Given the description of an element on the screen output the (x, y) to click on. 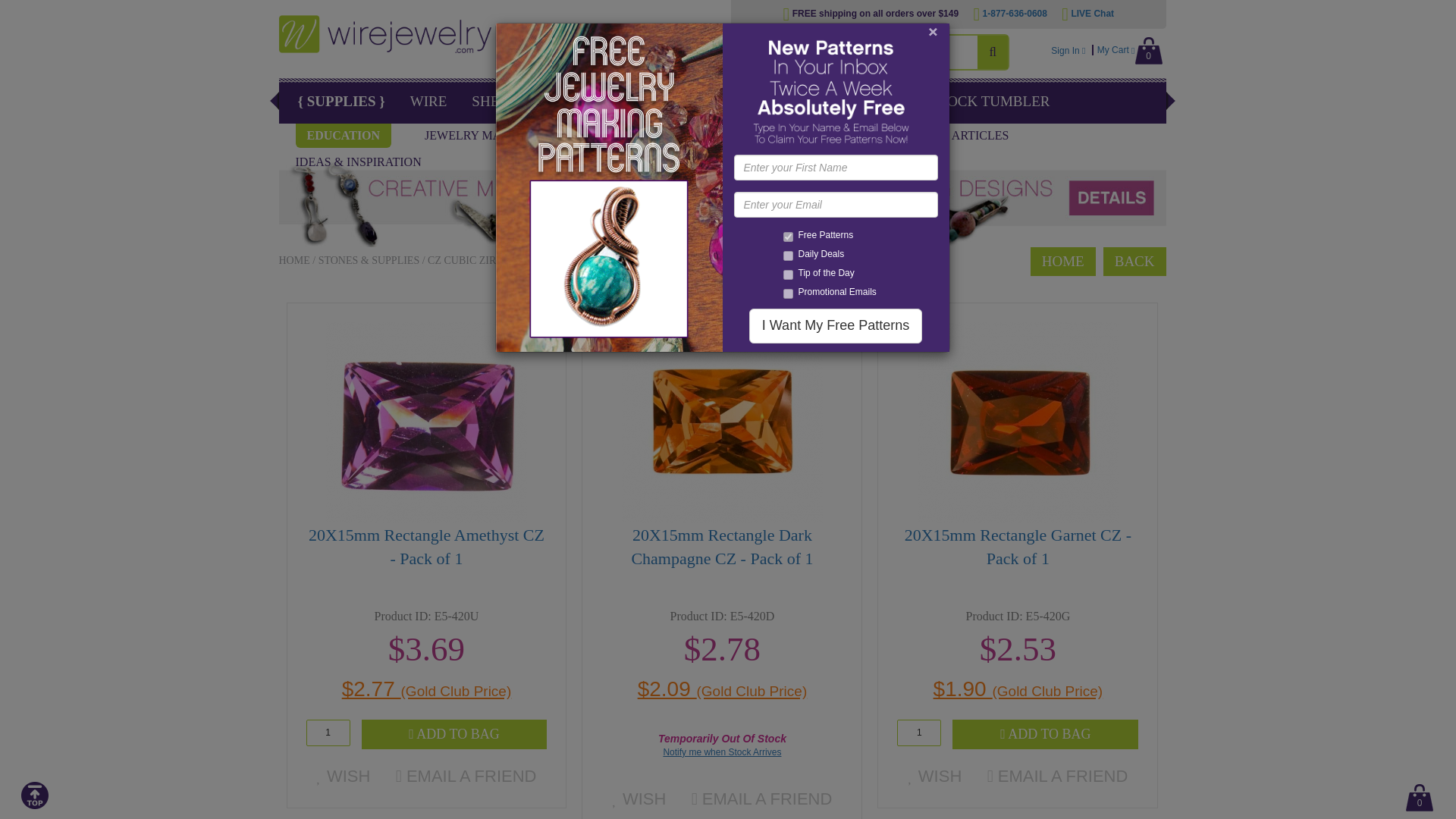
3155 (787, 275)
20X15mm Rectangle Garnet CZ  - Pack of 1 (1017, 421)
3157 (787, 293)
1 (327, 732)
3161 (787, 236)
3153 (787, 255)
20X15mm Rectangle Amethyst CZ - Pack of 1 (426, 421)
20X15mm Rectangle Dark Champagne CZ - Pack of 1 (721, 421)
1 (918, 732)
